Given the description of an element on the screen output the (x, y) to click on. 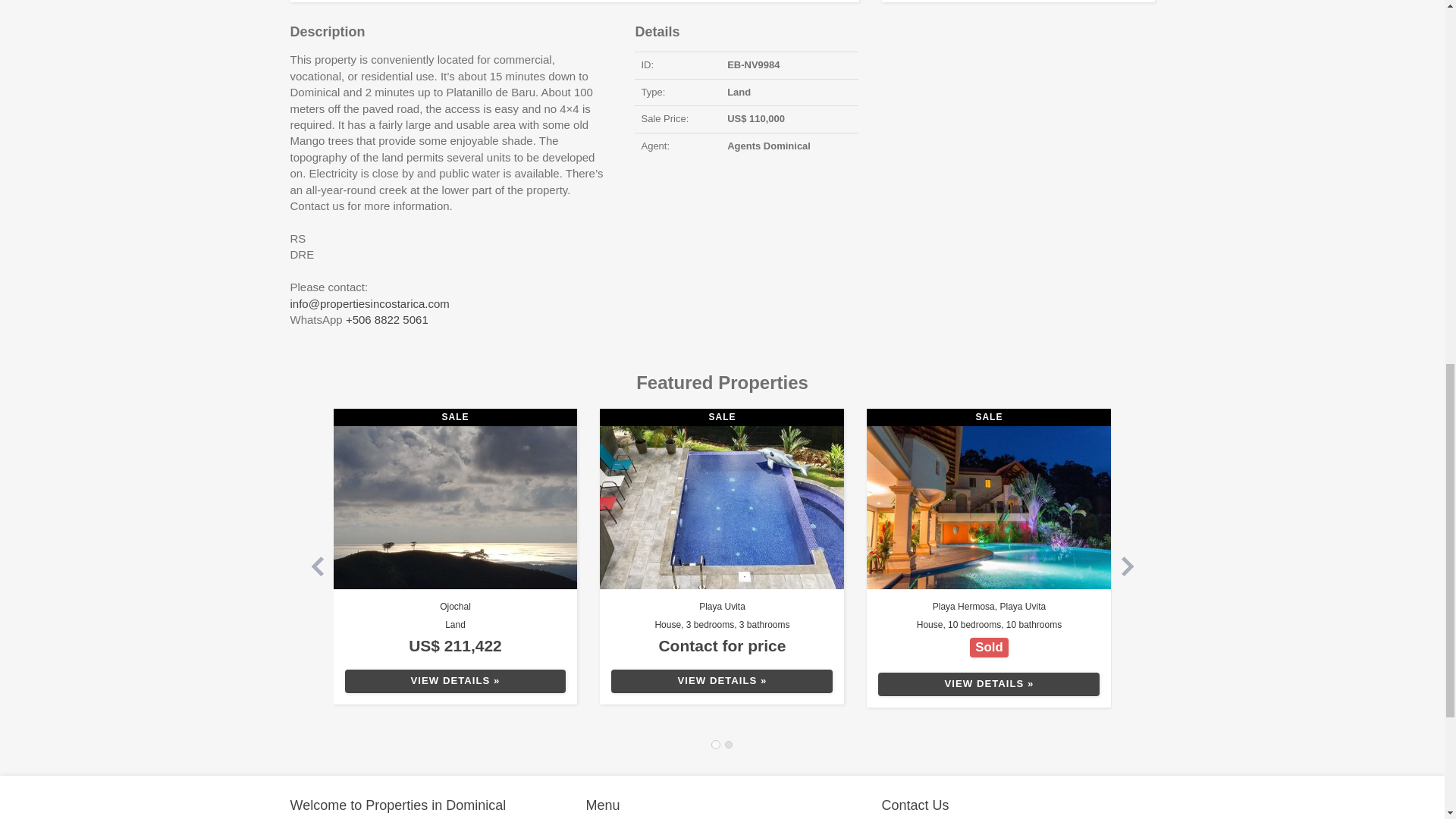
Print Property (1017, 1)
